Given the description of an element on the screen output the (x, y) to click on. 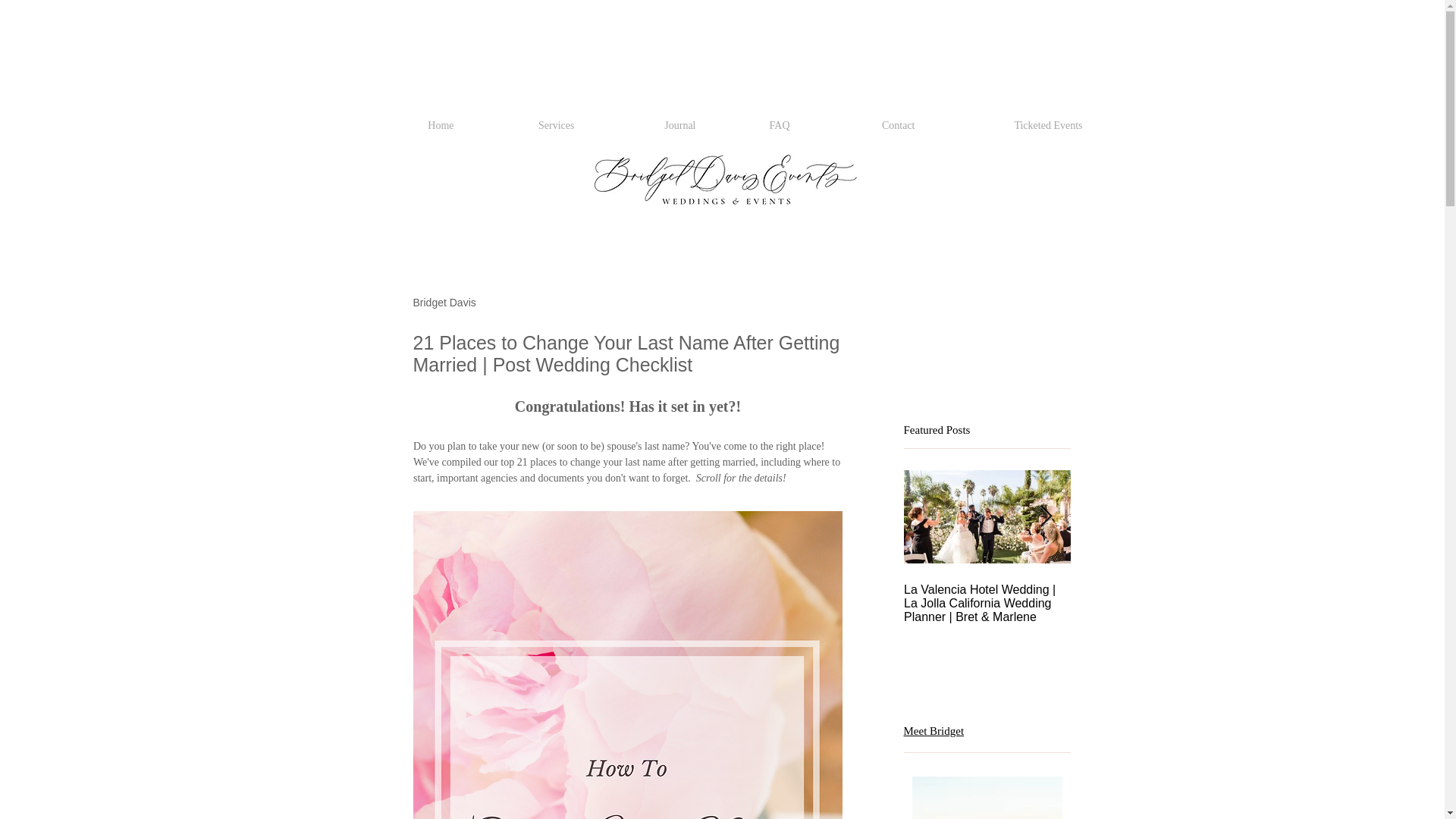
Bridget Davis (444, 302)
Bridget Davis (444, 302)
Services (520, 125)
Contact (860, 125)
Ticketed Events (1005, 125)
Home (408, 125)
Meet Bridget (933, 730)
Journal (642, 125)
FAQ (750, 125)
